Given the description of an element on the screen output the (x, y) to click on. 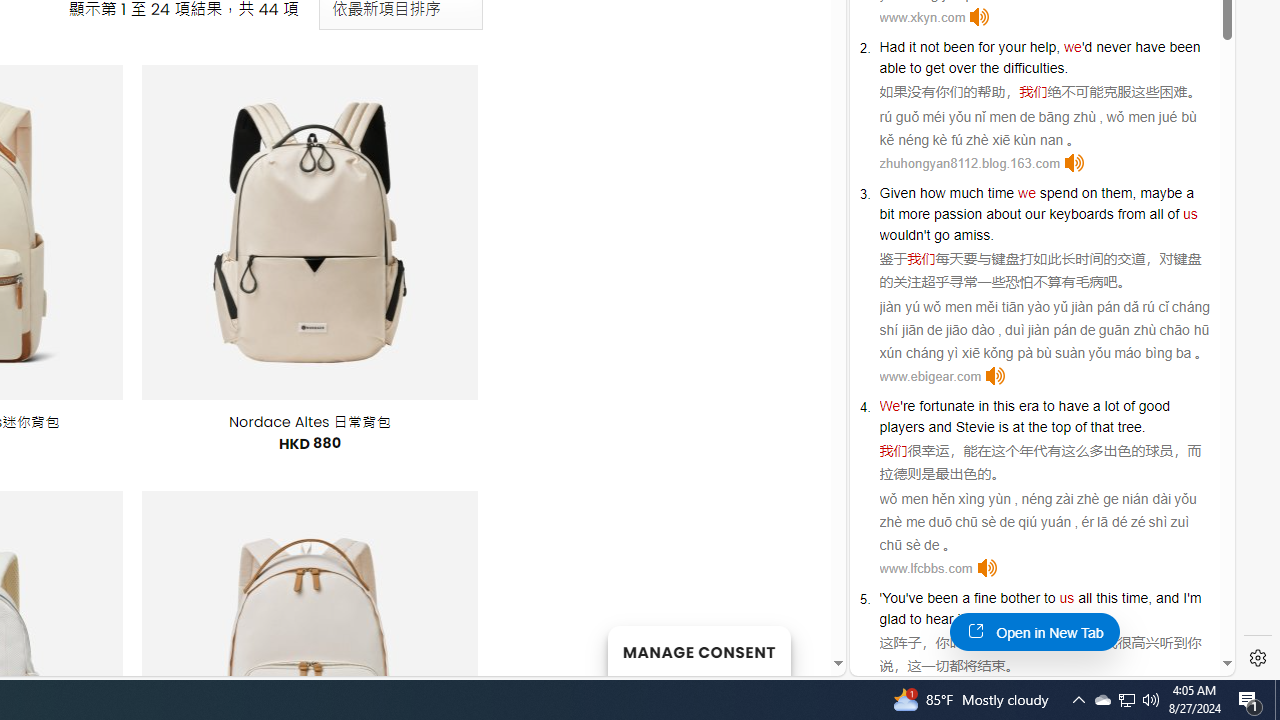
I (1184, 597)
www.lfcbbs.com (925, 568)
over (962, 67)
spend (1058, 192)
era (1028, 405)
from (1131, 213)
difficulties (1033, 67)
the (989, 67)
